Given the description of an element on the screen output the (x, y) to click on. 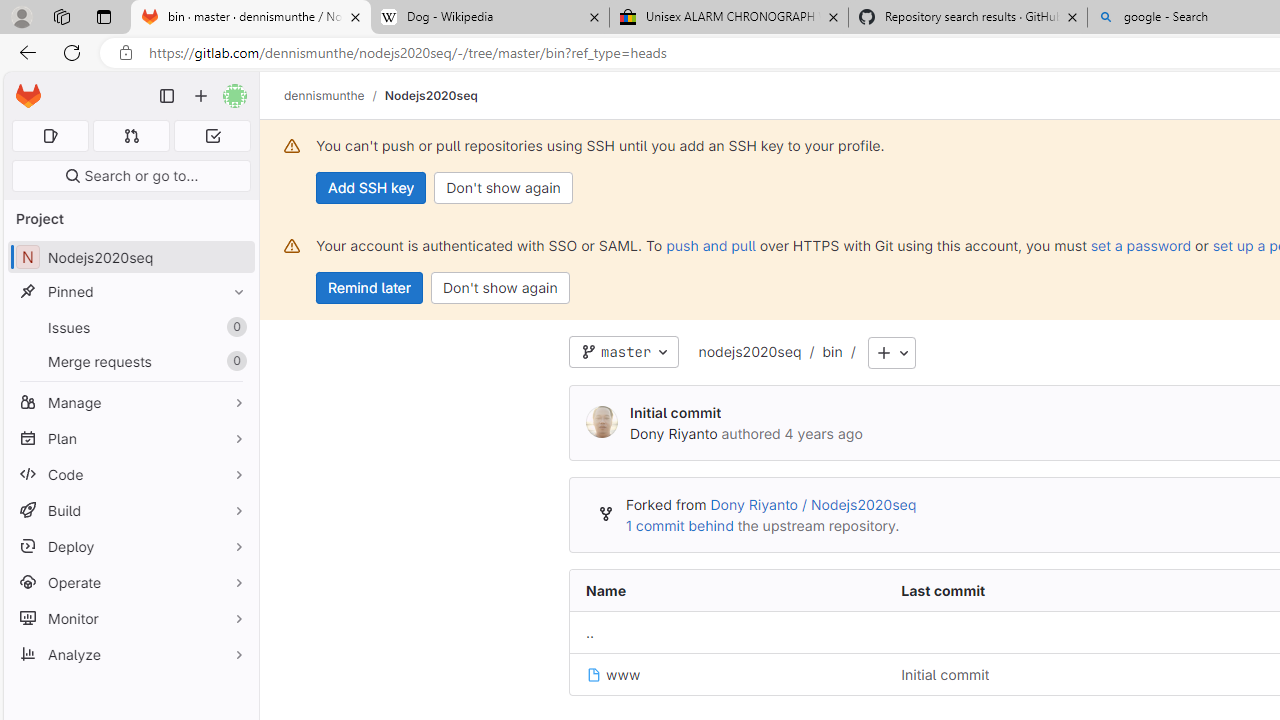
Class: s16 position-relative file-icon (593, 675)
dennismunthe/ (334, 95)
Name (727, 591)
Unpin Issues (234, 327)
Plan (130, 438)
Deploy (130, 546)
Dog - Wikipedia (490, 17)
www (613, 674)
Dony Riyanto's avatar (602, 422)
Code (130, 474)
Add to tree (891, 353)
